Given the description of an element on the screen output the (x, y) to click on. 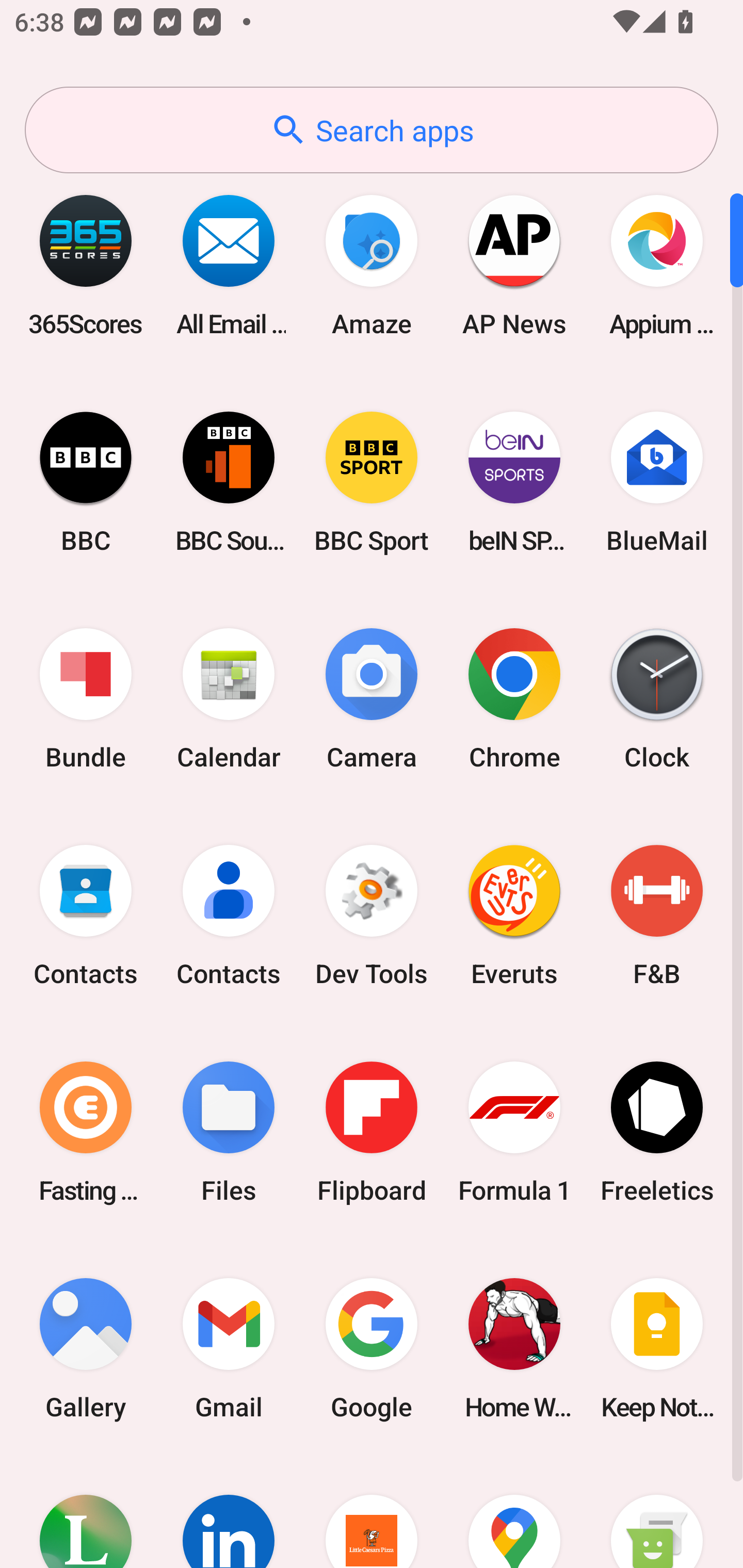
  Search apps (371, 130)
365Scores (85, 264)
All Email Connect (228, 264)
Amaze (371, 264)
AP News (514, 264)
Appium Settings (656, 264)
BBC (85, 482)
BBC Sounds (228, 482)
BBC Sport (371, 482)
beIN SPORTS (514, 482)
BlueMail (656, 482)
Bundle (85, 699)
Calendar (228, 699)
Camera (371, 699)
Chrome (514, 699)
Clock (656, 699)
Contacts (85, 915)
Contacts (228, 915)
Dev Tools (371, 915)
Everuts (514, 915)
F&B (656, 915)
Fasting Coach (85, 1131)
Files (228, 1131)
Flipboard (371, 1131)
Formula 1 (514, 1131)
Freeletics (656, 1131)
Gallery (85, 1348)
Gmail (228, 1348)
Google (371, 1348)
Home Workout (514, 1348)
Keep Notes (656, 1348)
Lifesum (85, 1512)
LinkedIn (228, 1512)
Little Caesars Pizza (371, 1512)
Maps (514, 1512)
Messaging (656, 1512)
